Given the description of an element on the screen output the (x, y) to click on. 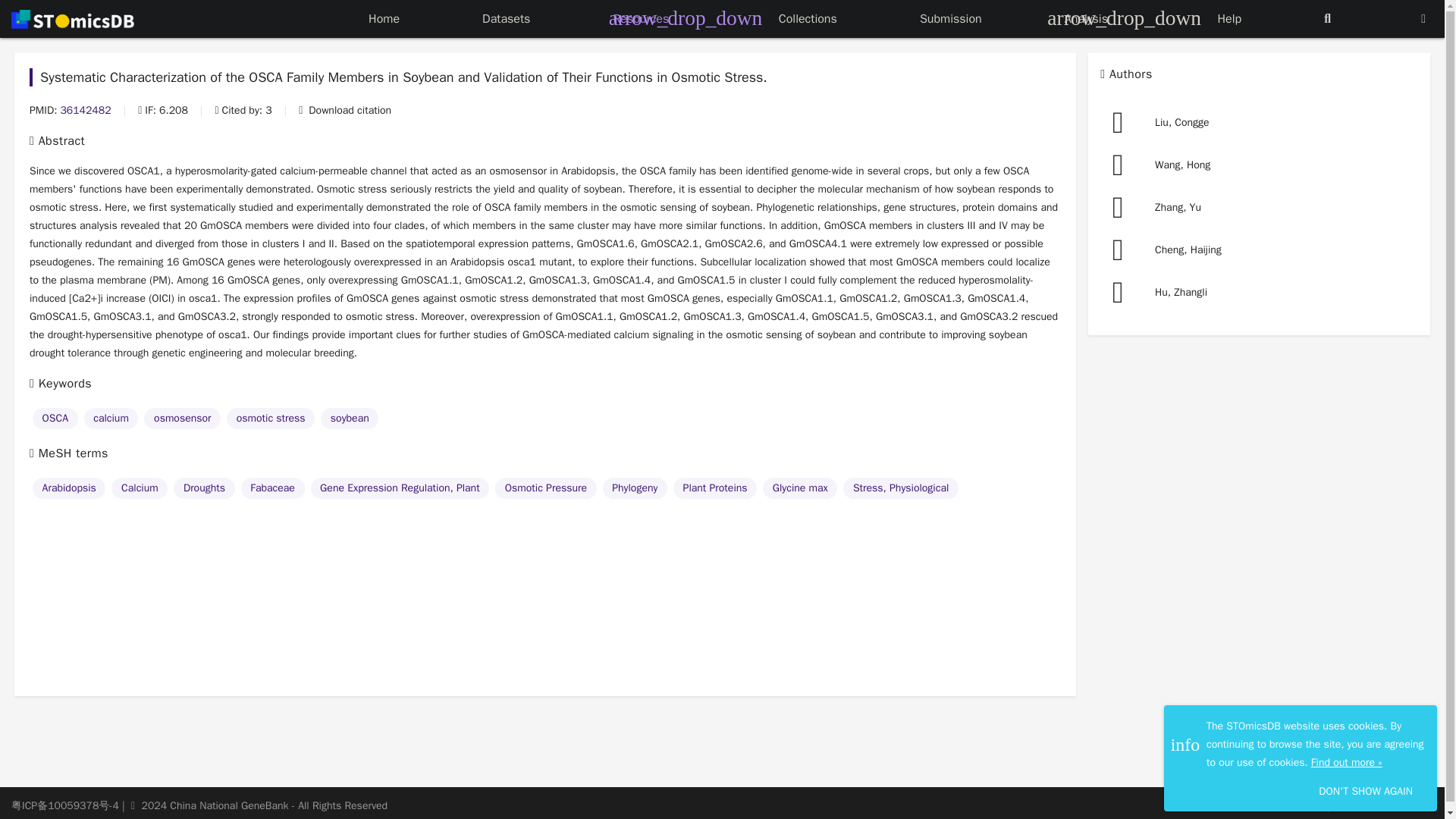
Submission (950, 19)
36142482 (84, 110)
Collections (807, 19)
Home (383, 19)
Download citation (344, 110)
Help (1229, 19)
Datasets (505, 19)
